Given the description of an element on the screen output the (x, y) to click on. 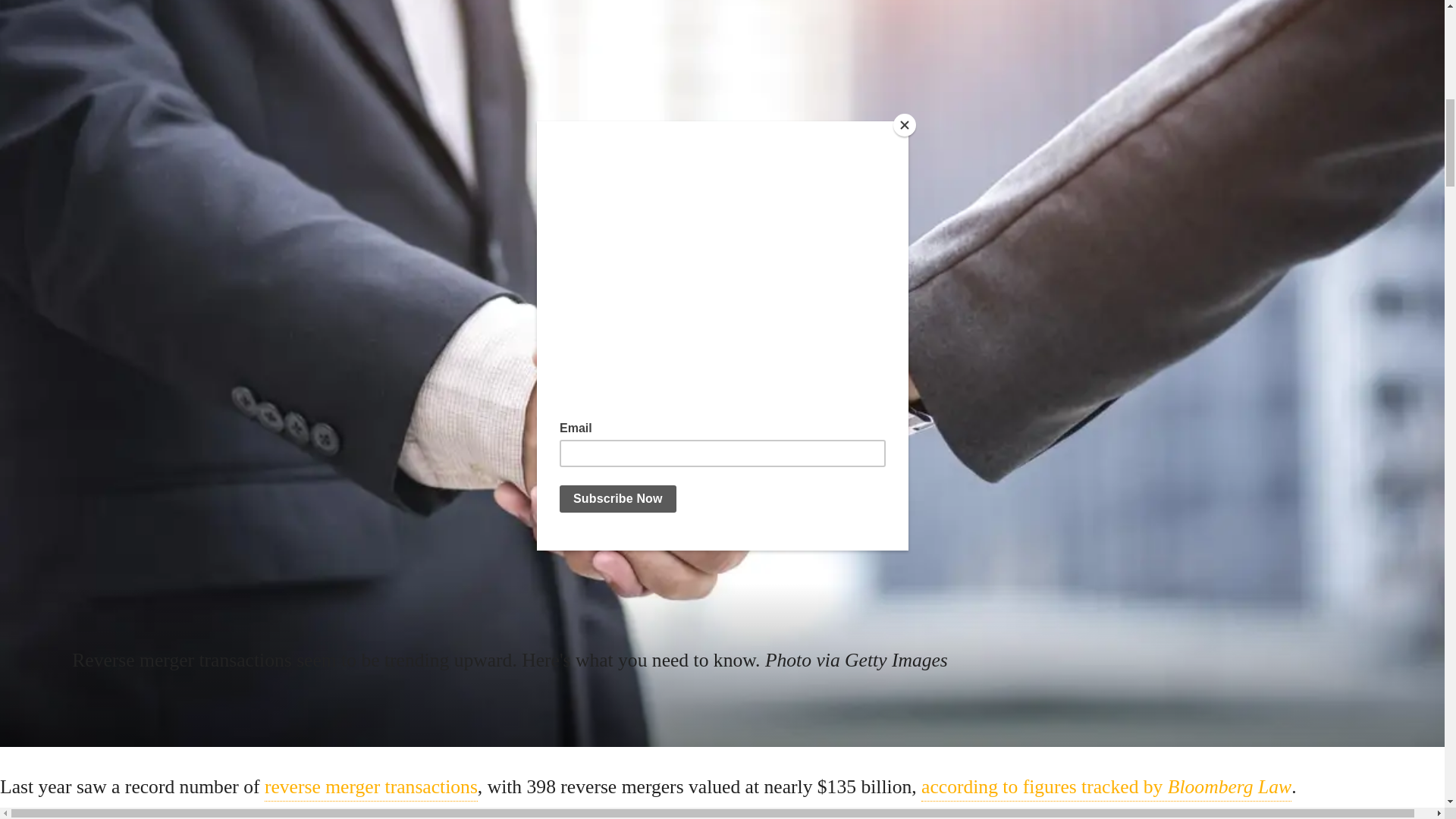
reverse merger transactions (370, 787)
according to figures tracked by Bloomberg Law (1106, 787)
